Given the description of an element on the screen output the (x, y) to click on. 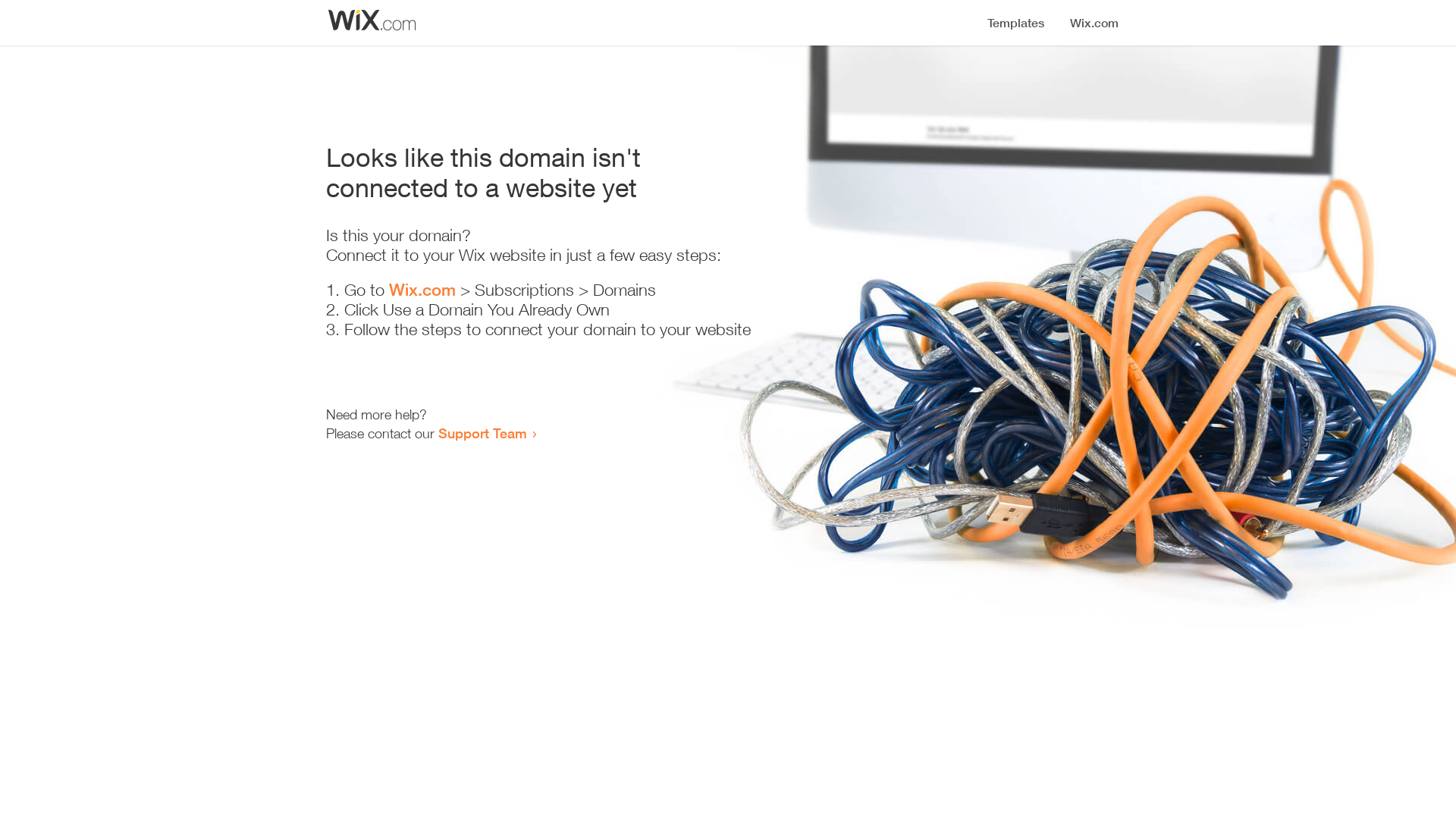
Support Team Element type: text (482, 432)
Wix.com Element type: text (422, 289)
